Given the description of an element on the screen output the (x, y) to click on. 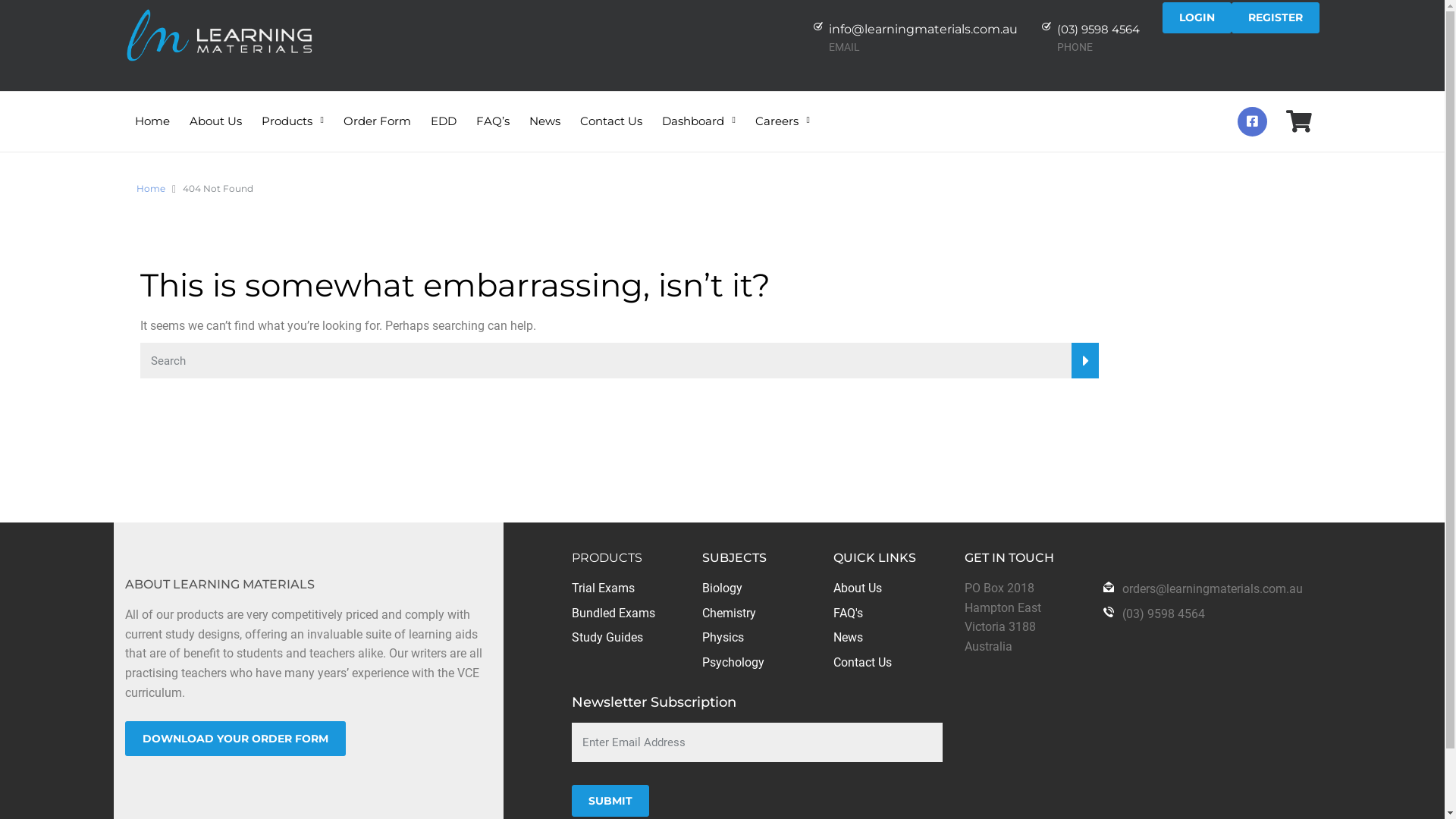
SUBMIT Element type: text (610, 800)
Psychology Element type: text (733, 662)
PO Box 2018 Hampton East Victoria 3188 Australia Element type: text (1002, 616)
Study Guides Element type: text (607, 637)
Dashboard Element type: text (698, 110)
info@learningmaterials.com.au Element type: text (922, 28)
News Element type: text (847, 637)
Home Element type: text (150, 188)
About Us Element type: text (215, 110)
FAQ's Element type: text (847, 612)
Order Form Element type: text (377, 110)
Bundled Exams Element type: text (613, 612)
View your shopping cart Element type: hover (1298, 125)
Careers Element type: text (782, 110)
News Element type: text (544, 110)
DOWNLOAD YOUR ORDER FORM Element type: text (235, 738)
Contact Us Element type: text (611, 110)
EDD Element type: text (443, 110)
(03) 9598 4564 Element type: text (1163, 613)
LOGIN Element type: text (1196, 17)
Home Element type: text (151, 110)
Physics Element type: text (722, 637)
REGISTER Element type: text (1275, 17)
orders@learningmaterials.com.au Element type: text (1212, 588)
Biology Element type: text (722, 587)
Products Element type: text (292, 110)
About Us Element type: text (857, 587)
Chemistry Element type: text (729, 612)
Trial Exams Element type: text (602, 587)
PRODUCTS Element type: text (606, 557)
Contact Us Element type: text (862, 662)
